Given the description of an element on the screen output the (x, y) to click on. 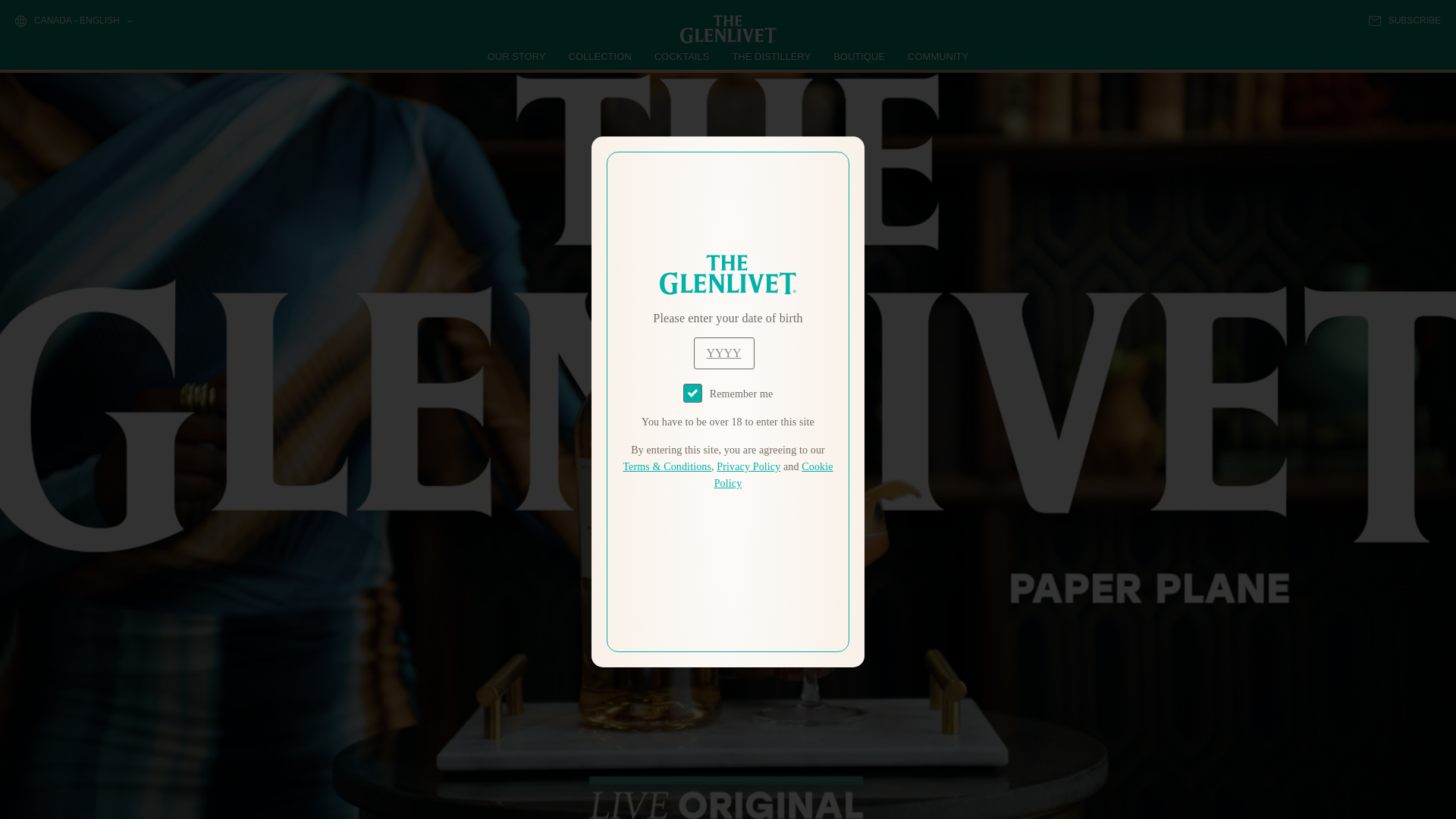
COLLECTION (600, 56)
year (723, 353)
CANADA - ENGLISH (73, 21)
COCKTAILS (681, 56)
SUBSCRIBE (1404, 20)
Cookie Policy (773, 474)
OUR STORY (516, 56)
THE DISTILLERY (771, 56)
Privacy Policy (748, 466)
BOUTIQUE (858, 56)
COMMUNITY (937, 56)
